Given the description of an element on the screen output the (x, y) to click on. 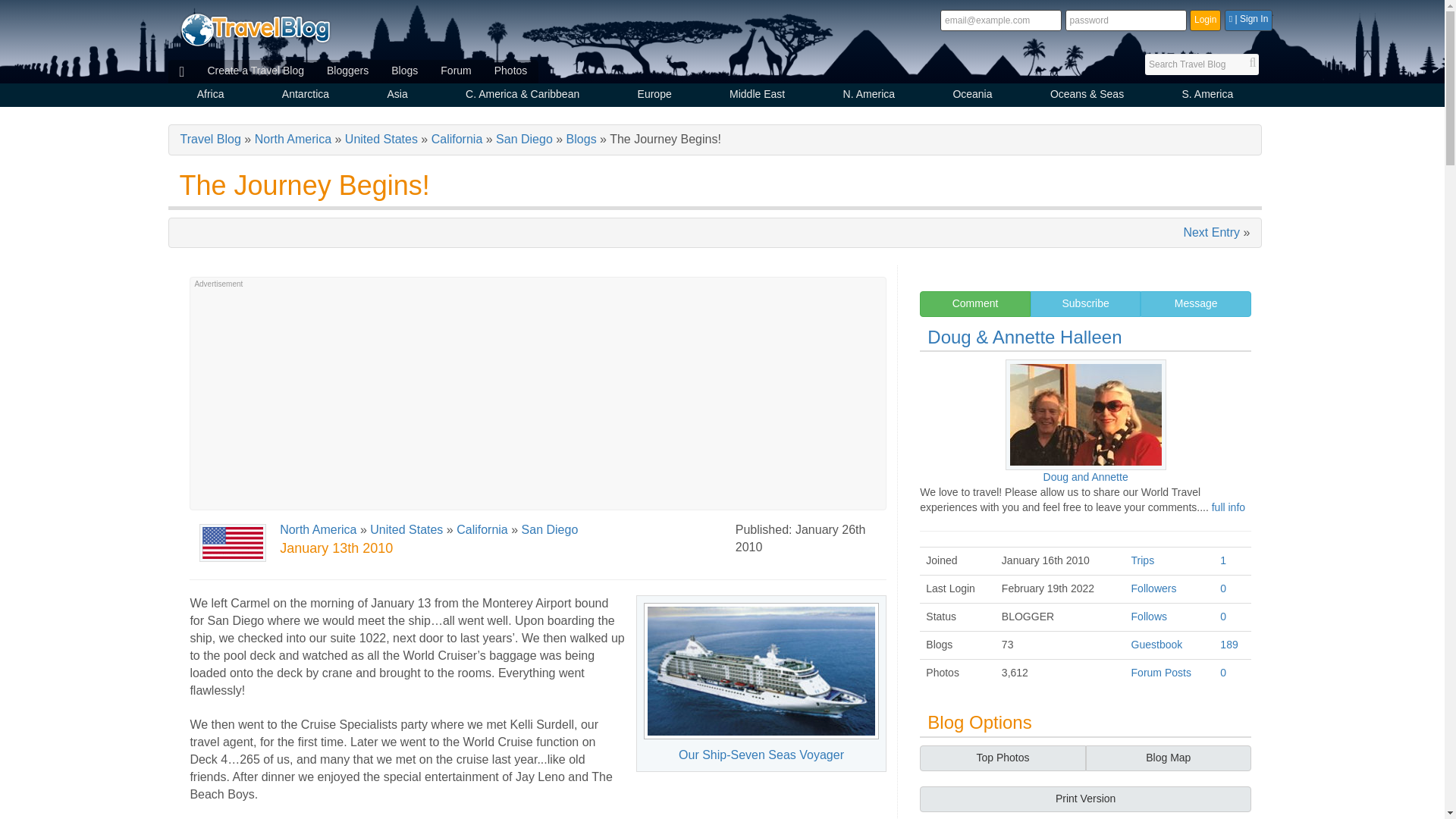
Bloggers (347, 71)
Travel Blog (255, 29)
N. America (868, 95)
Login (1205, 20)
Photos (510, 71)
Middle East (756, 95)
Sign in with Facebook (1248, 20)
Create a Travel Blog (255, 71)
Forum (455, 71)
Oceania (972, 95)
